Given the description of an element on the screen output the (x, y) to click on. 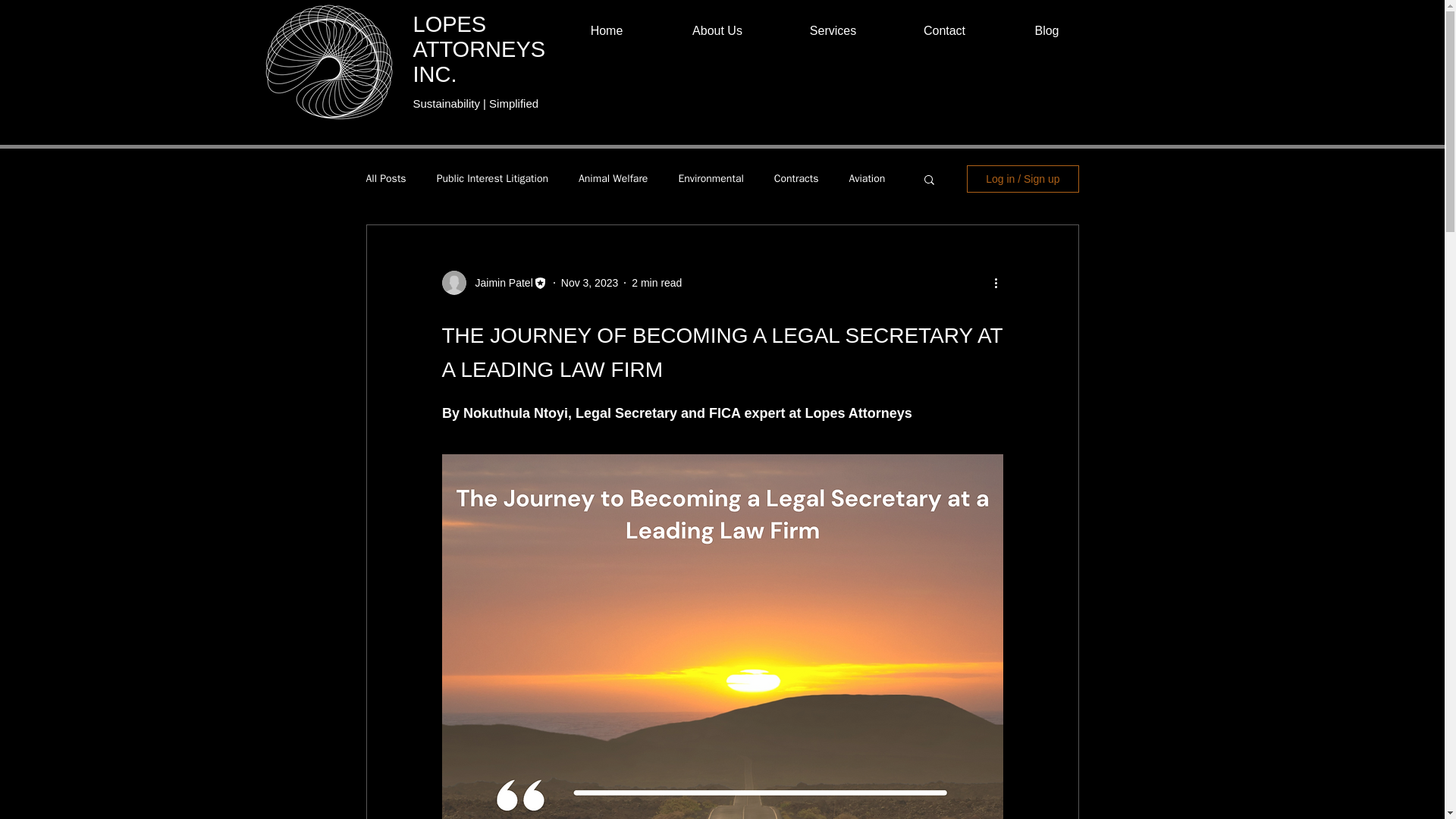
Home (606, 30)
Public Interest Litigation (492, 178)
2 min read (656, 282)
Environmental (710, 178)
Contact (943, 30)
Jaimin Patel (498, 282)
Nov 3, 2023 (589, 282)
Contracts (796, 178)
Animal Welfare (612, 178)
Blog (1045, 30)
Services (832, 30)
LOPES ATTORNEYS INC. (478, 49)
All Posts (385, 178)
About Us (717, 30)
Aviation (866, 178)
